Given the description of an element on the screen output the (x, y) to click on. 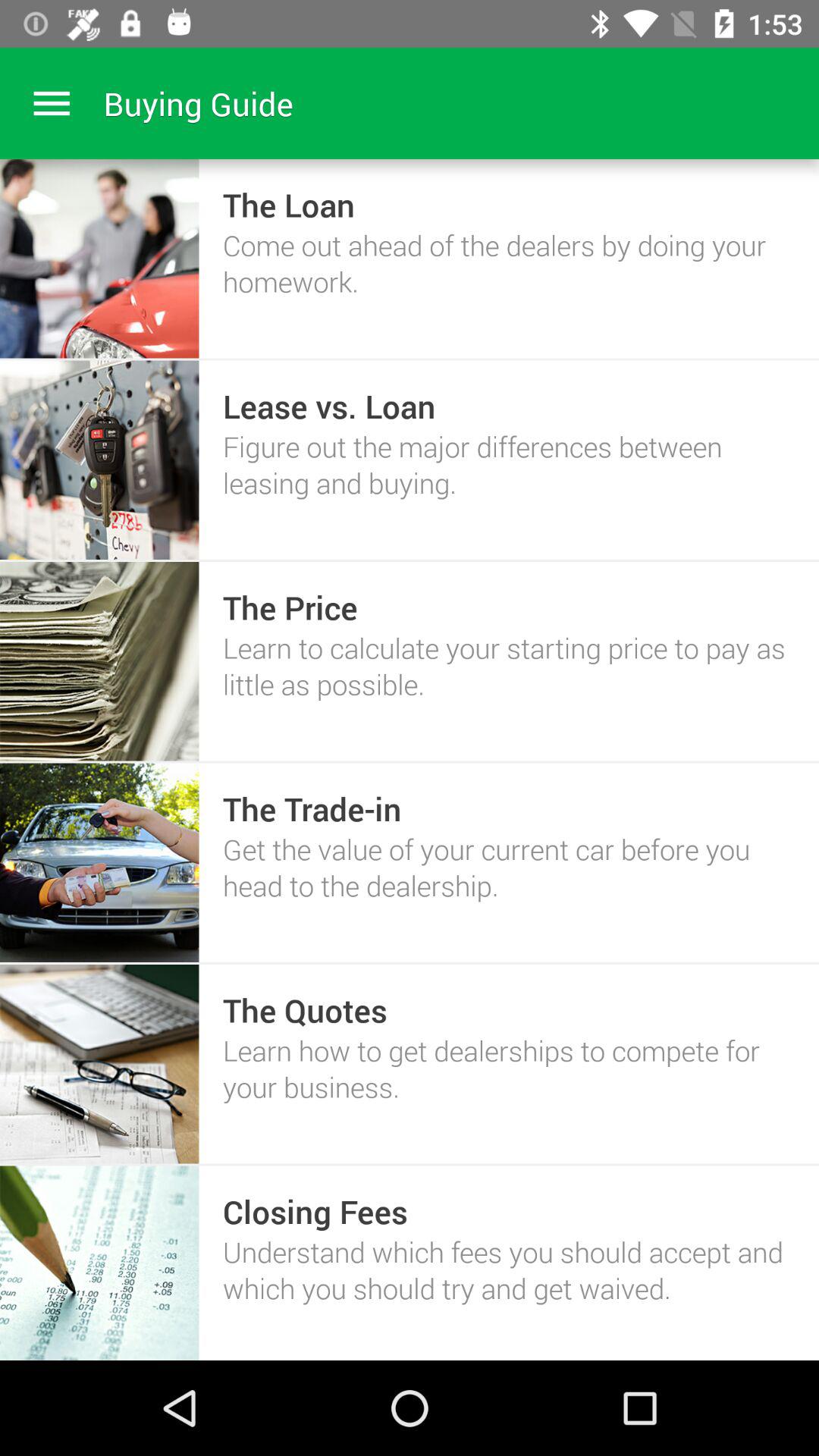
swipe to the loan icon (288, 204)
